Given the description of an element on the screen output the (x, y) to click on. 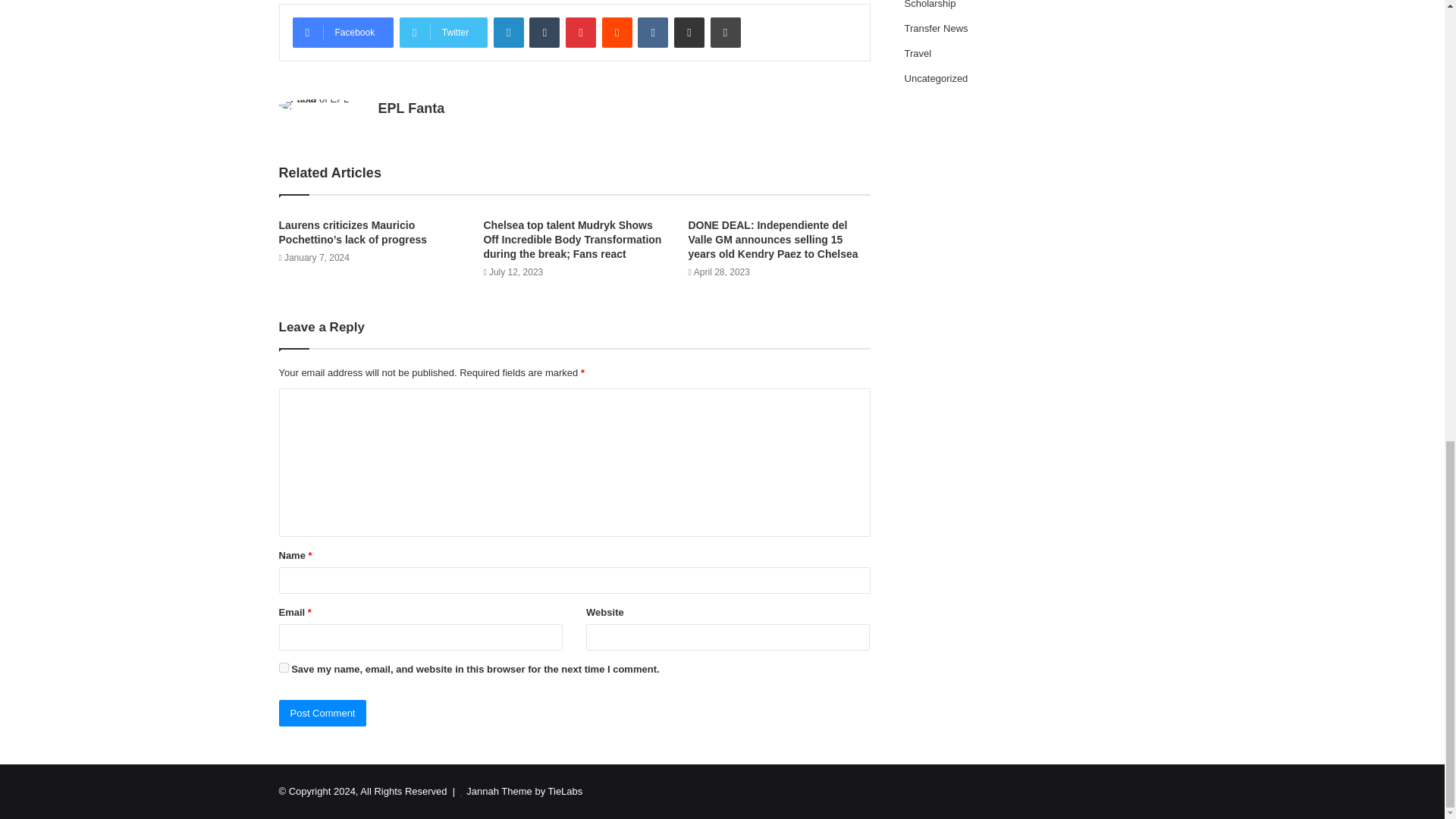
Pinterest (580, 32)
Pinterest (580, 32)
EPL Fanta (410, 108)
LinkedIn (508, 32)
Twitter (442, 32)
Facebook (343, 32)
Post Comment (322, 713)
LinkedIn (508, 32)
Tumblr (544, 32)
Post Comment (322, 713)
Tumblr (544, 32)
Share via Email (689, 32)
VKontakte (652, 32)
VKontakte (652, 32)
